Given the description of an element on the screen output the (x, y) to click on. 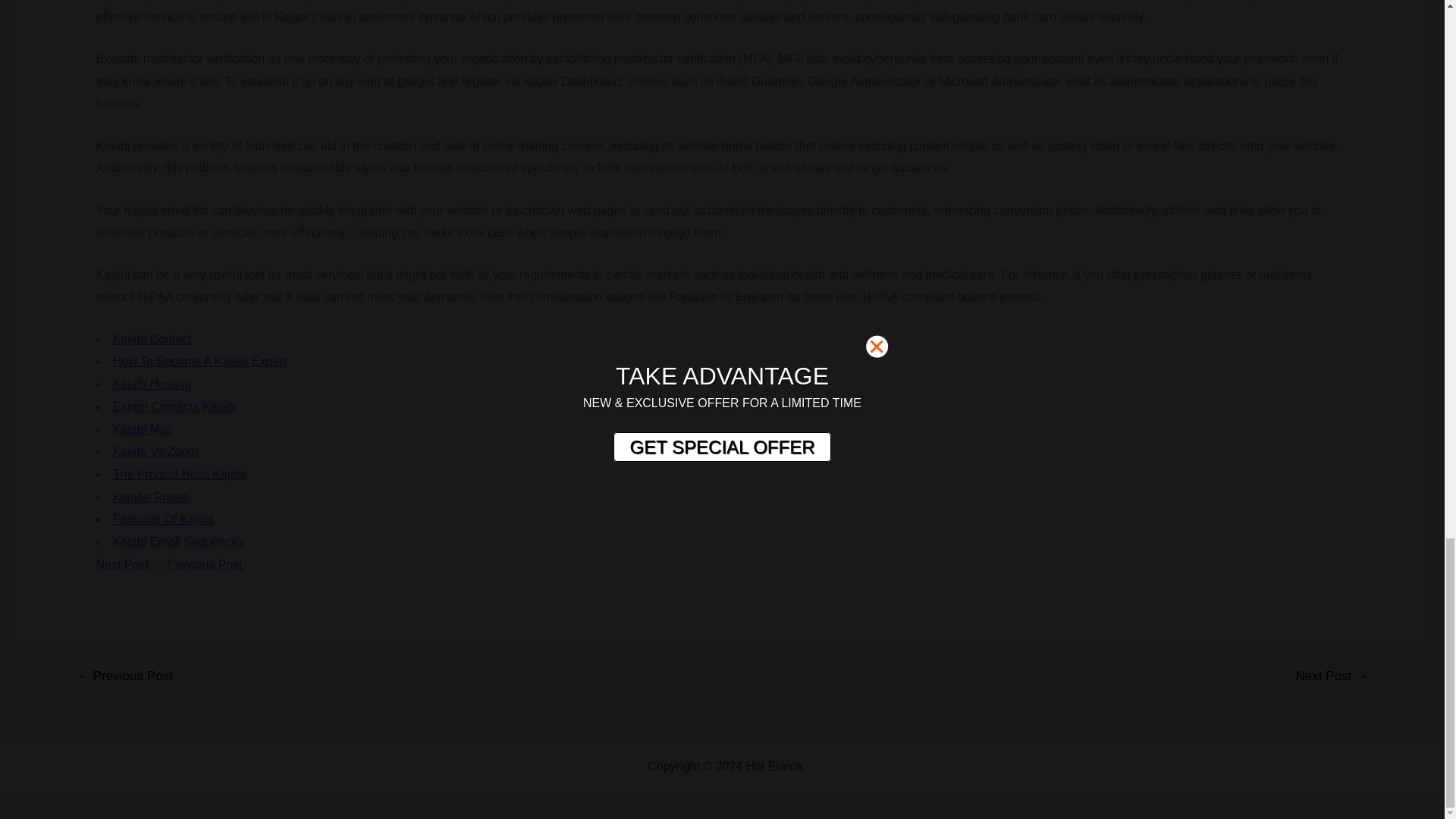
Kajabe Ropes (151, 496)
The Product Boss Kajabi (179, 473)
Kajabi Vs Zoom (155, 451)
Next Post (122, 563)
Features Of Kajabi (163, 518)
Previous Post (205, 563)
How To Become A Kajabi Expert (199, 360)
Kajabi Vs Zoom (155, 451)
Kajabi Hosting (151, 383)
Features Of Kajabi (163, 518)
Kajabi Contact (152, 338)
Kajabi Hosting (151, 383)
Kajabi Mail (142, 429)
Kajabi Mail (142, 429)
Kajabi Email Sequences (178, 541)
